Given the description of an element on the screen output the (x, y) to click on. 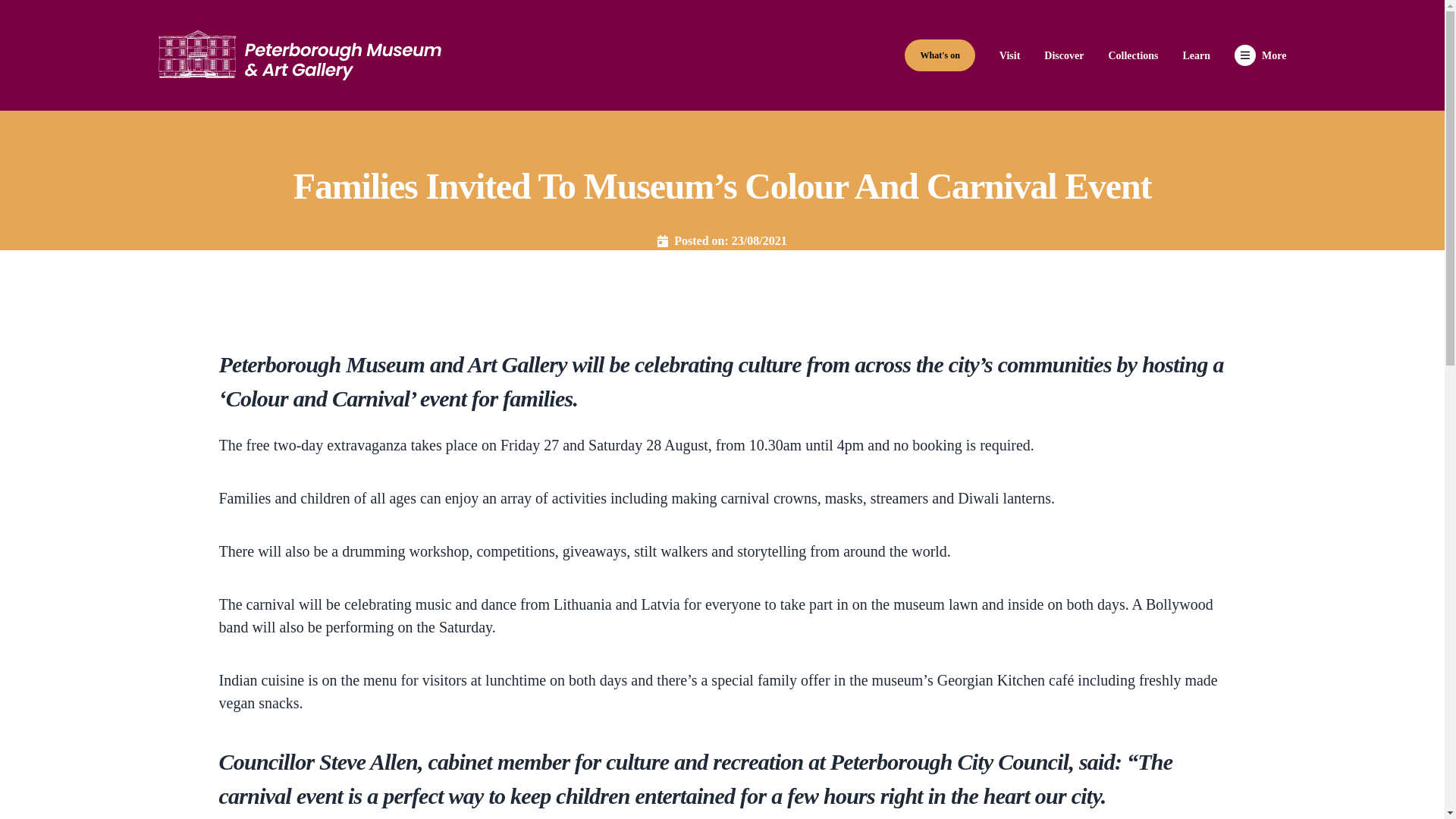
Visit (1009, 55)
Collections (1132, 55)
Learn (1196, 55)
More (1259, 55)
Discover (1063, 55)
What's on (939, 55)
